Given the description of an element on the screen output the (x, y) to click on. 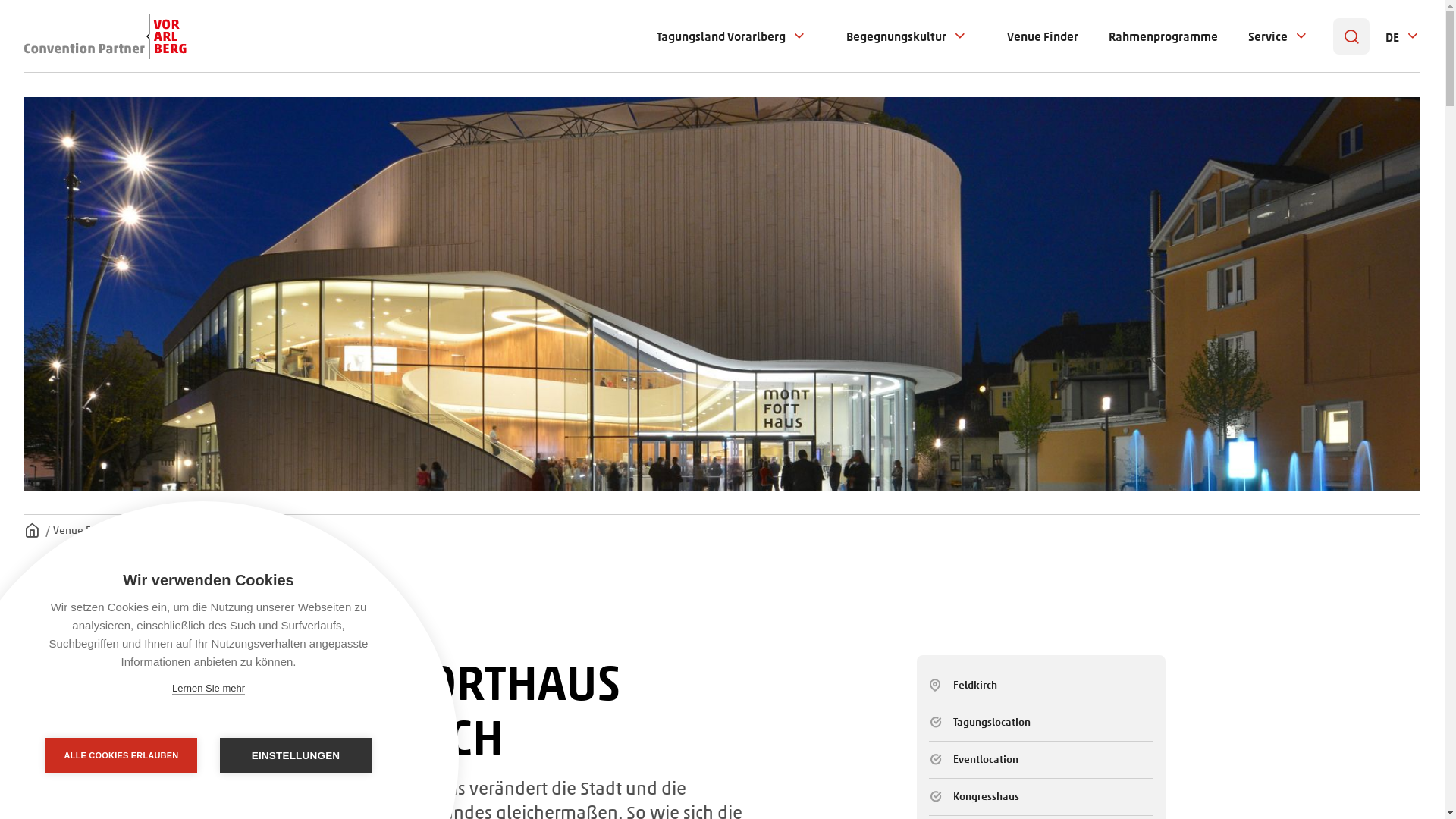
Homepage Element type: text (31, 530)
Fassade des Kongresshaus Montforthaus in Feldkirch Element type: hover (722, 293)
EINSTELLUNGEN Element type: text (295, 755)
Tagungsland Vorarlberg Element type: text (720, 36)
Venue Finder Element type: text (1042, 36)
Lernen Sie mehr Element type: text (208, 688)
Convention Partner Vorarlberg Logo Element type: hover (105, 36)
Service Element type: text (1267, 36)
Begegnungskultur Element type: text (896, 36)
Venue Finder Element type: text (84, 529)
Rahmenprogramme Element type: text (1162, 36)
ALLE COOKIES ERLAUBEN Element type: text (121, 755)
